Given the description of an element on the screen output the (x, y) to click on. 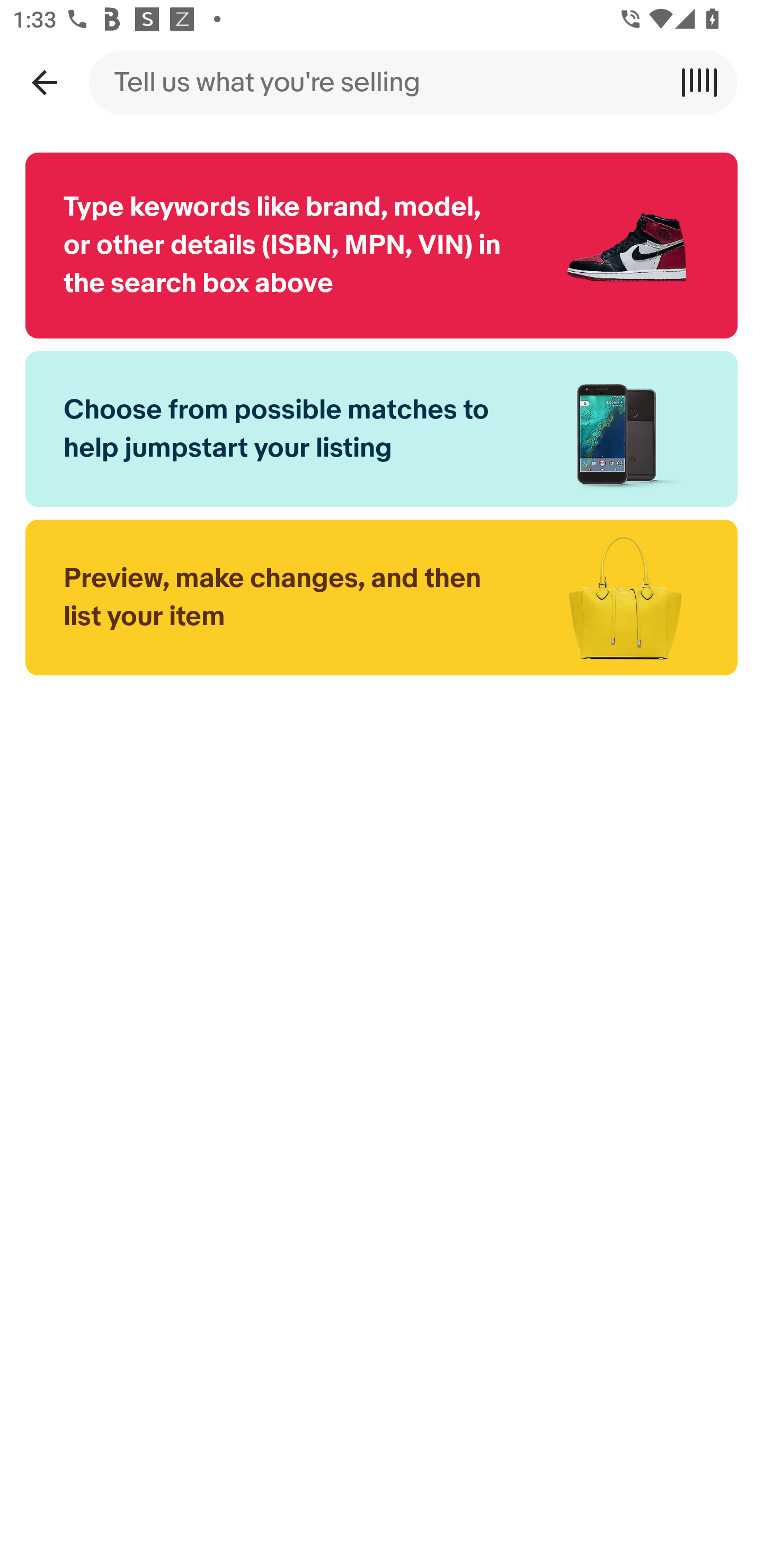
Navigate up (44, 82)
Scan a barcode (705, 82)
Tell us what you're selling (381, 82)
